Given the description of an element on the screen output the (x, y) to click on. 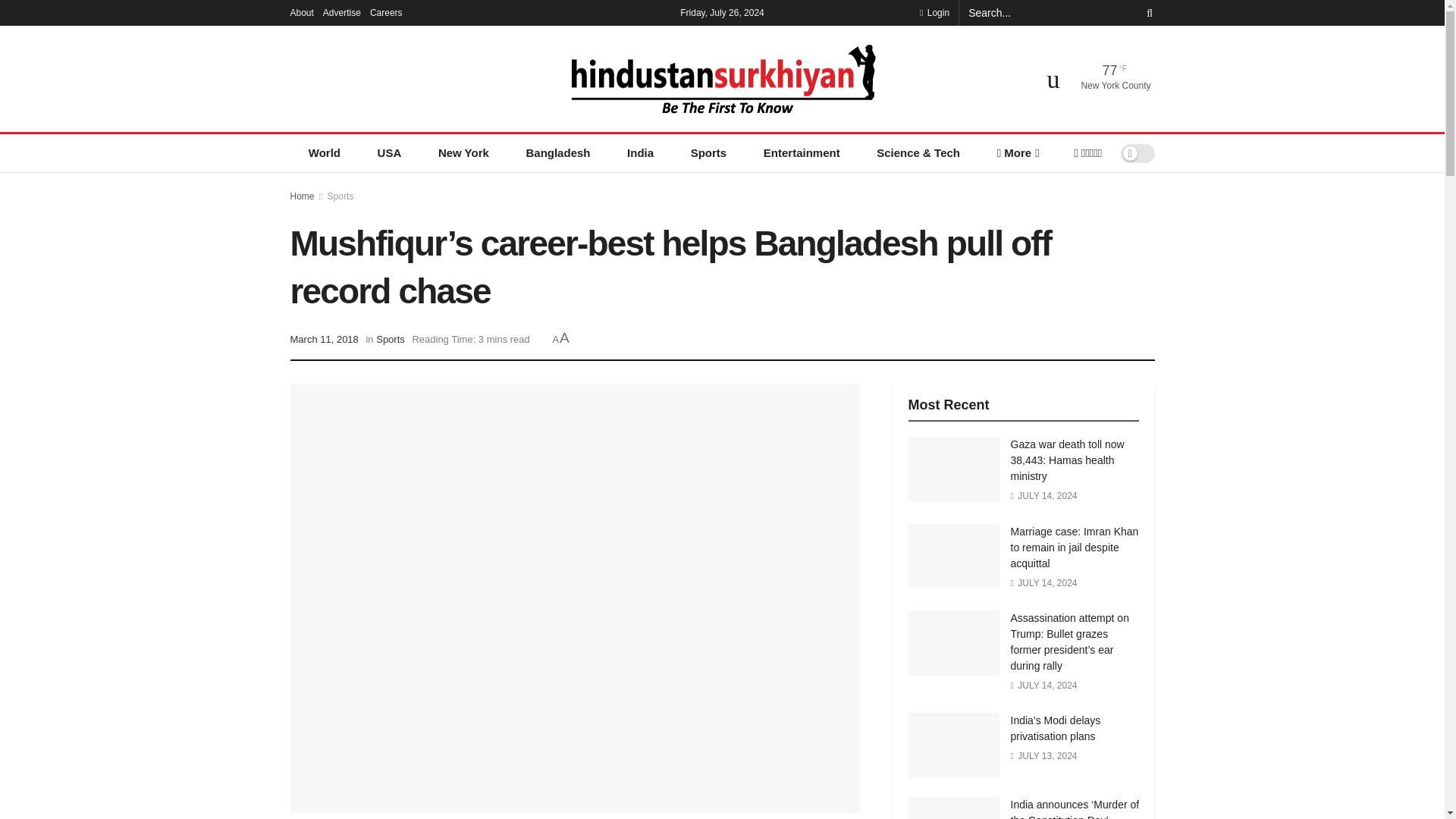
Entertainment (800, 152)
About (301, 12)
Advertise (342, 12)
Bangladesh (557, 152)
Careers (386, 12)
USA (388, 152)
India (640, 152)
New York (464, 152)
Login (934, 12)
Sports (707, 152)
World (323, 152)
More (1016, 152)
